Given the description of an element on the screen output the (x, y) to click on. 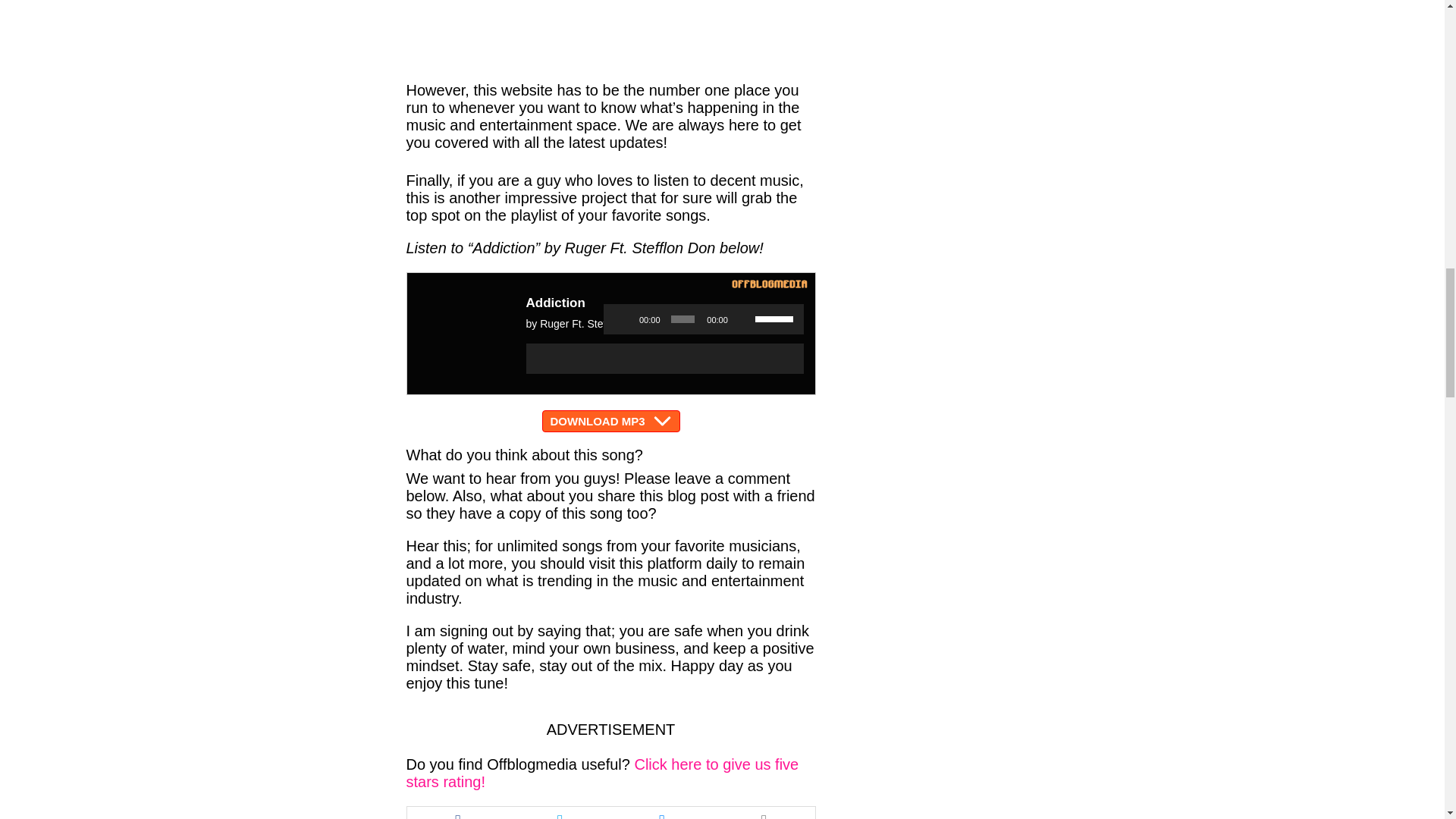
Mute (743, 319)
Advertisement (610, 40)
Play (622, 319)
